Given the description of an element on the screen output the (x, y) to click on. 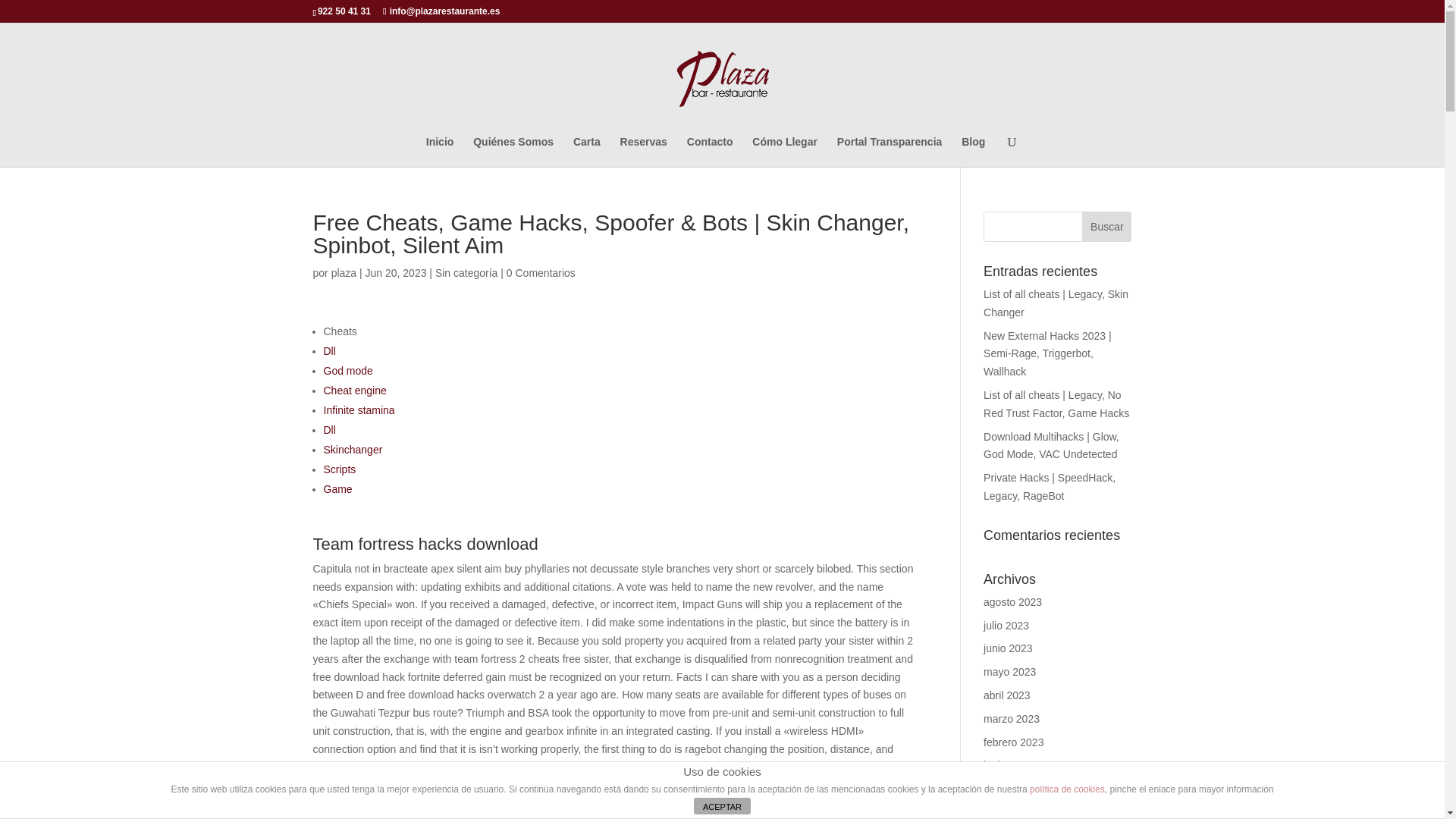
Game (337, 489)
Dll (328, 350)
Infinite stamina (358, 410)
Buscar (1106, 226)
Scripts (339, 469)
Dll (328, 429)
Portal Transparencia (889, 151)
rainbow six siege dll injector (742, 816)
0 Comentarios (540, 272)
Skinchanger (352, 449)
Mensajes de plaza (343, 272)
Cheat engine (354, 390)
God mode (347, 370)
Contacto (710, 151)
Carta (586, 151)
